Given the description of an element on the screen output the (x, y) to click on. 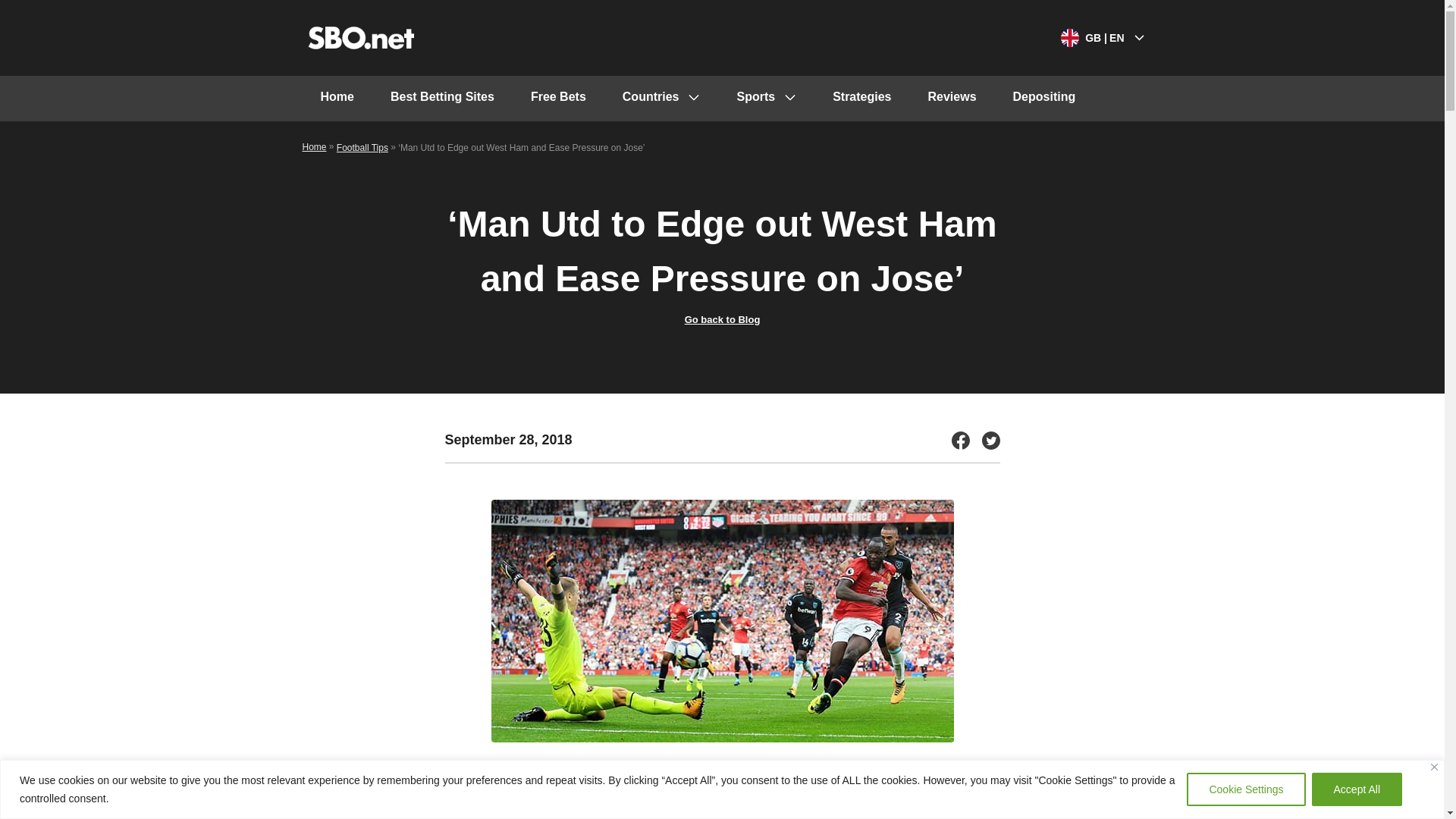
Cookie Settings (1245, 789)
Best Betting Sites (442, 98)
Sports (765, 98)
Countries (661, 98)
Free Bets (558, 98)
Accept All (1356, 789)
Home (336, 98)
